Given the description of an element on the screen output the (x, y) to click on. 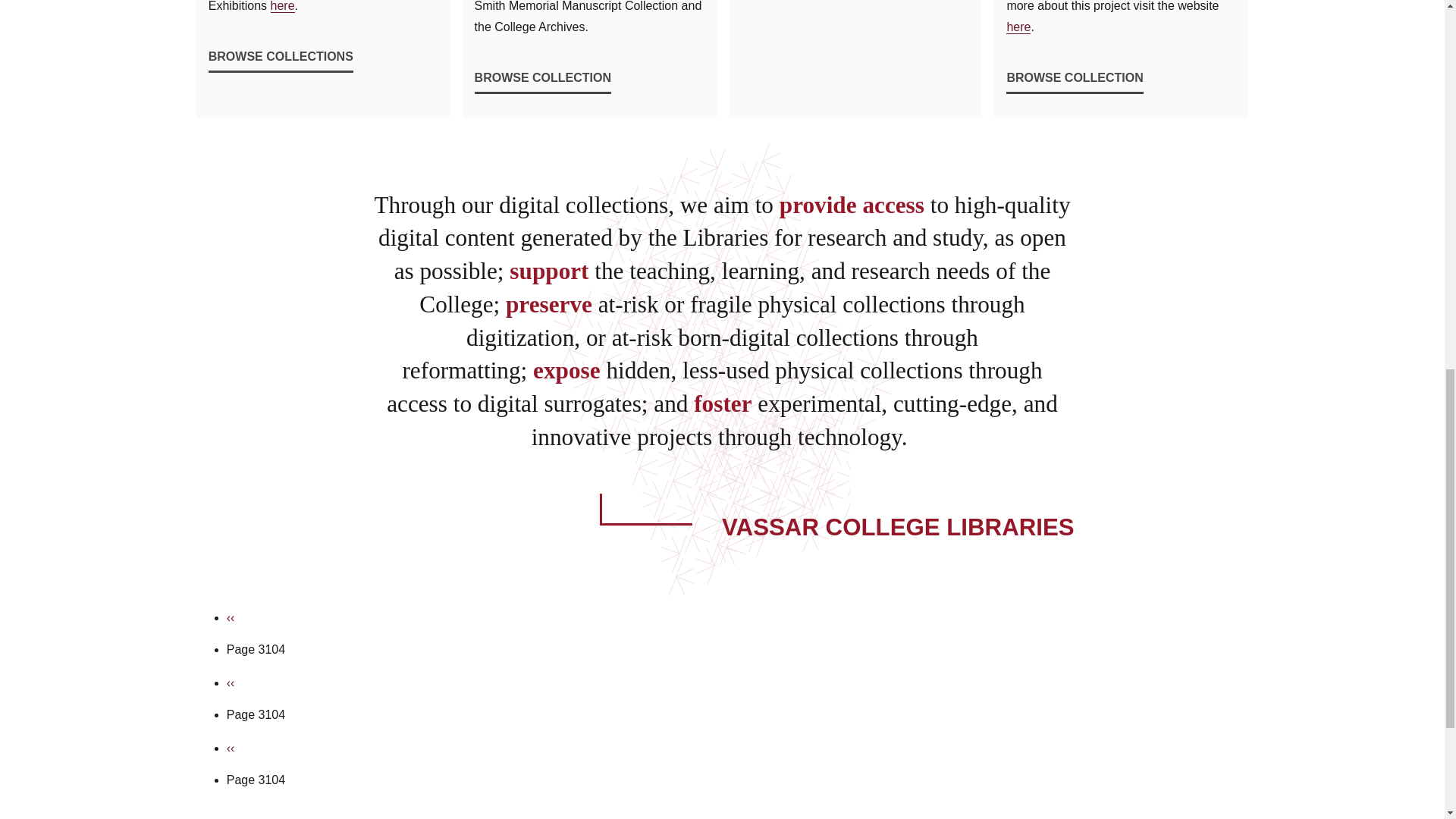
BROWSE COLLECTIONS (280, 49)
here (282, 6)
